Given the description of an element on the screen output the (x, y) to click on. 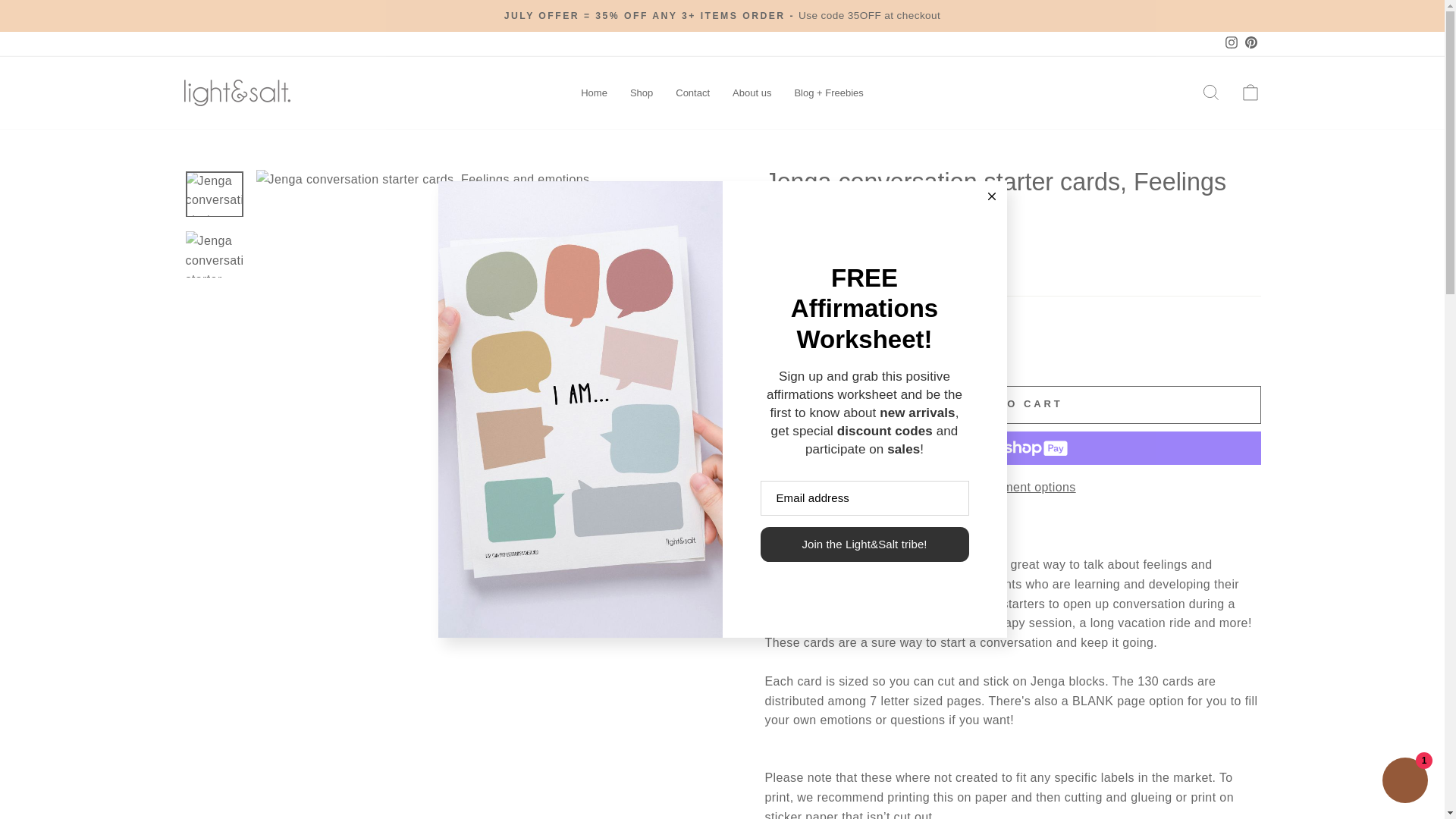
1 (794, 352)
Shop (640, 92)
LightandSaltDesign on Pinterest (1250, 43)
Instagram (1230, 43)
Pinterest (1250, 43)
LightandSaltDesign on Instagram (1230, 43)
Shopify online store chat (1404, 781)
Home (593, 92)
